Given the description of an element on the screen output the (x, y) to click on. 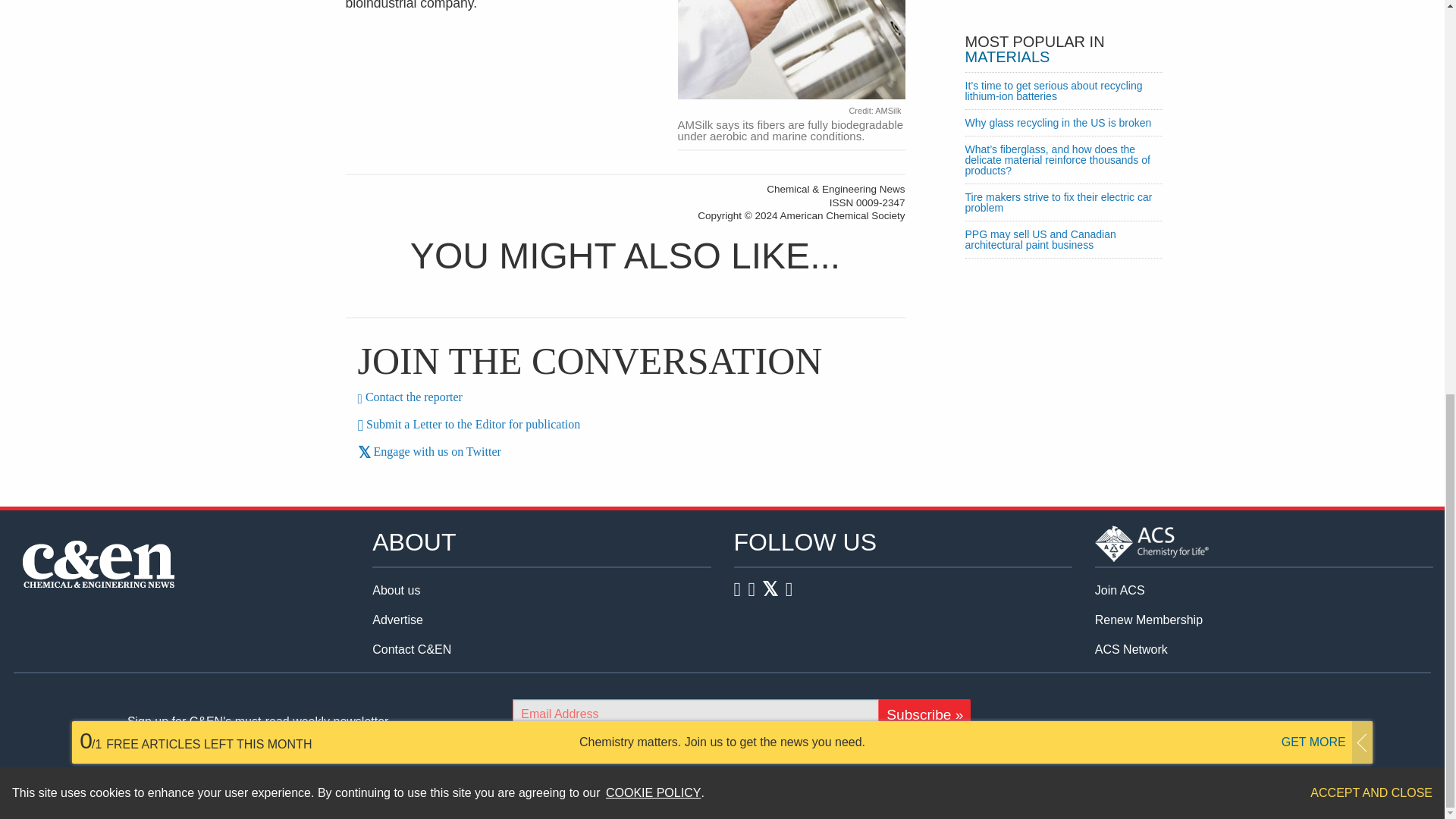
A photo of synthetic silk fiber being spun. (791, 51)
3rd party ad content (1062, 7)
